Given the description of an element on the screen output the (x, y) to click on. 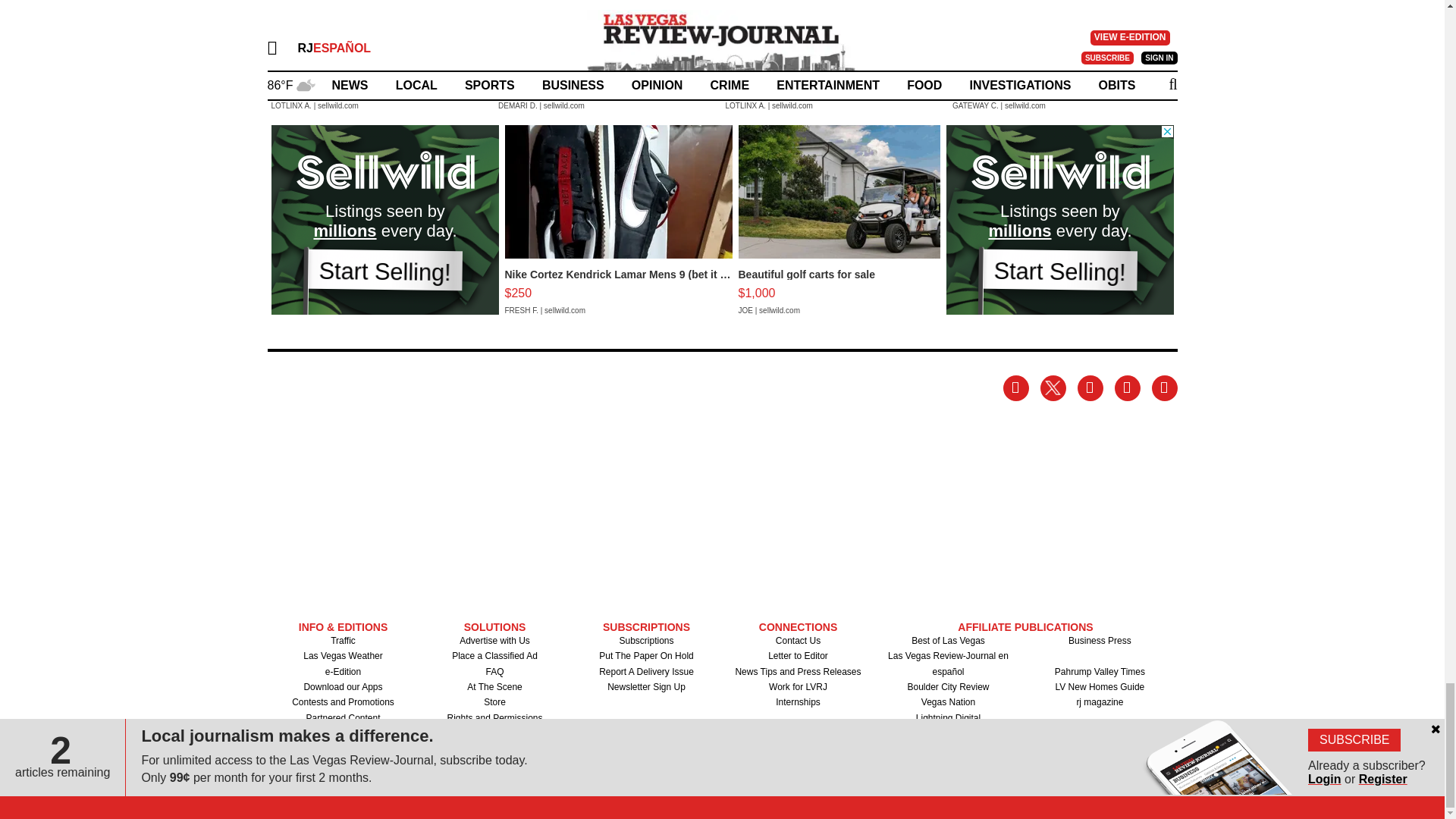
3rd party ad content (384, 219)
3rd party ad content (1059, 219)
